Given the description of an element on the screen output the (x, y) to click on. 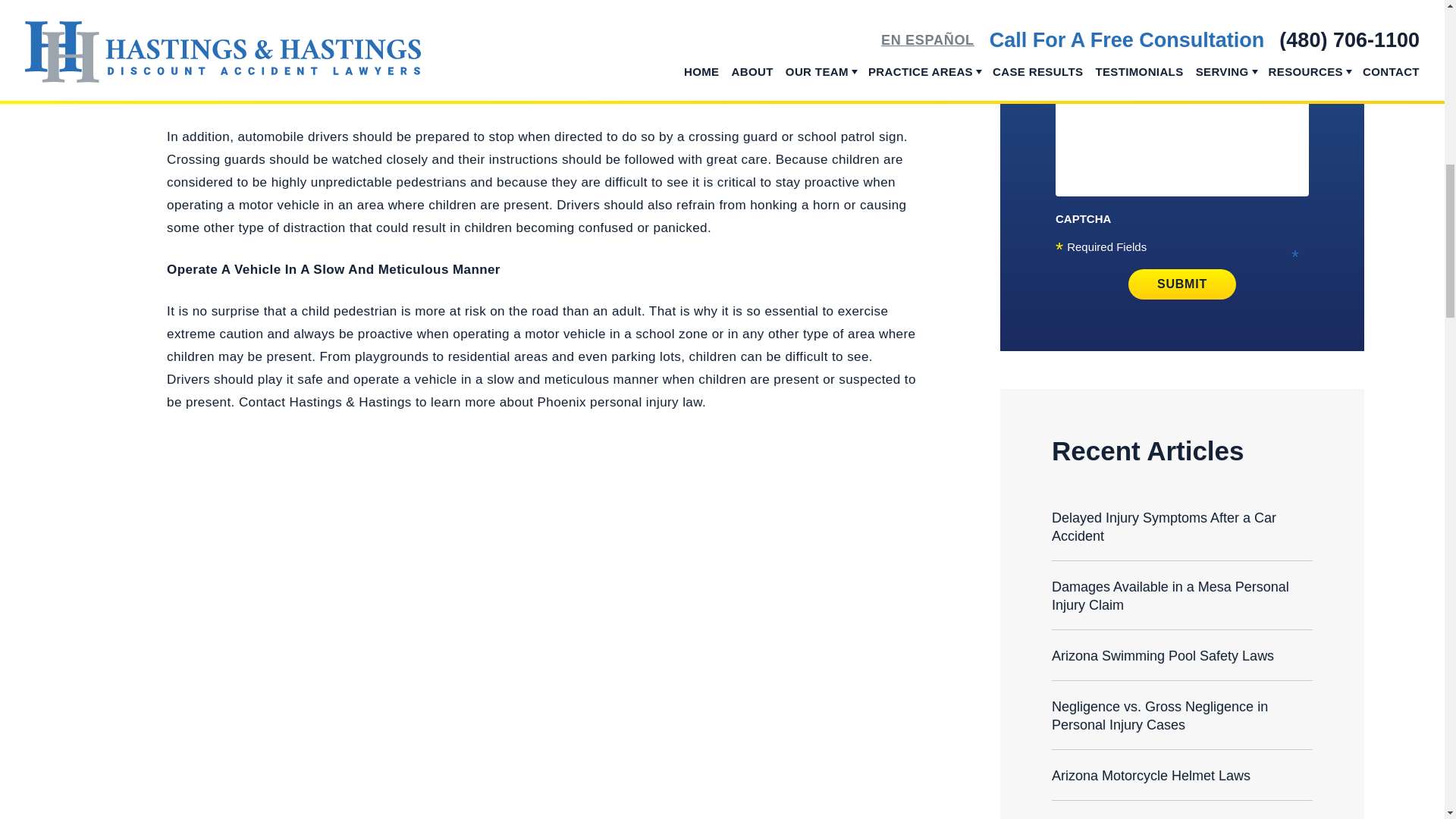
Submit (1182, 284)
